Given the description of an element on the screen output the (x, y) to click on. 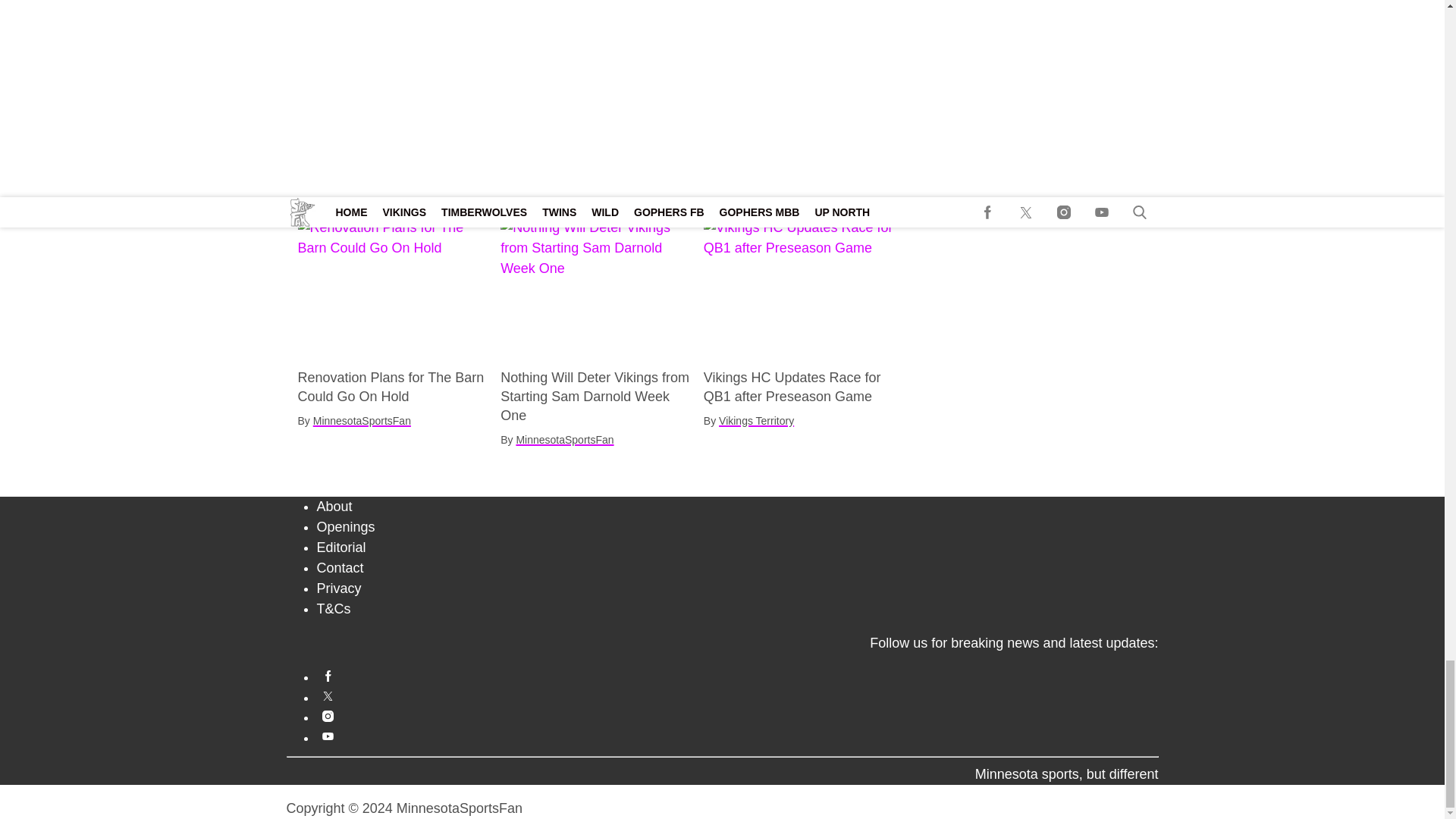
Subscribe to our YouTube channel (737, 736)
Follow us on Facebook (737, 675)
Follow us on Instagram (737, 715)
Follow us on Twitter (737, 696)
